Given the description of an element on the screen output the (x, y) to click on. 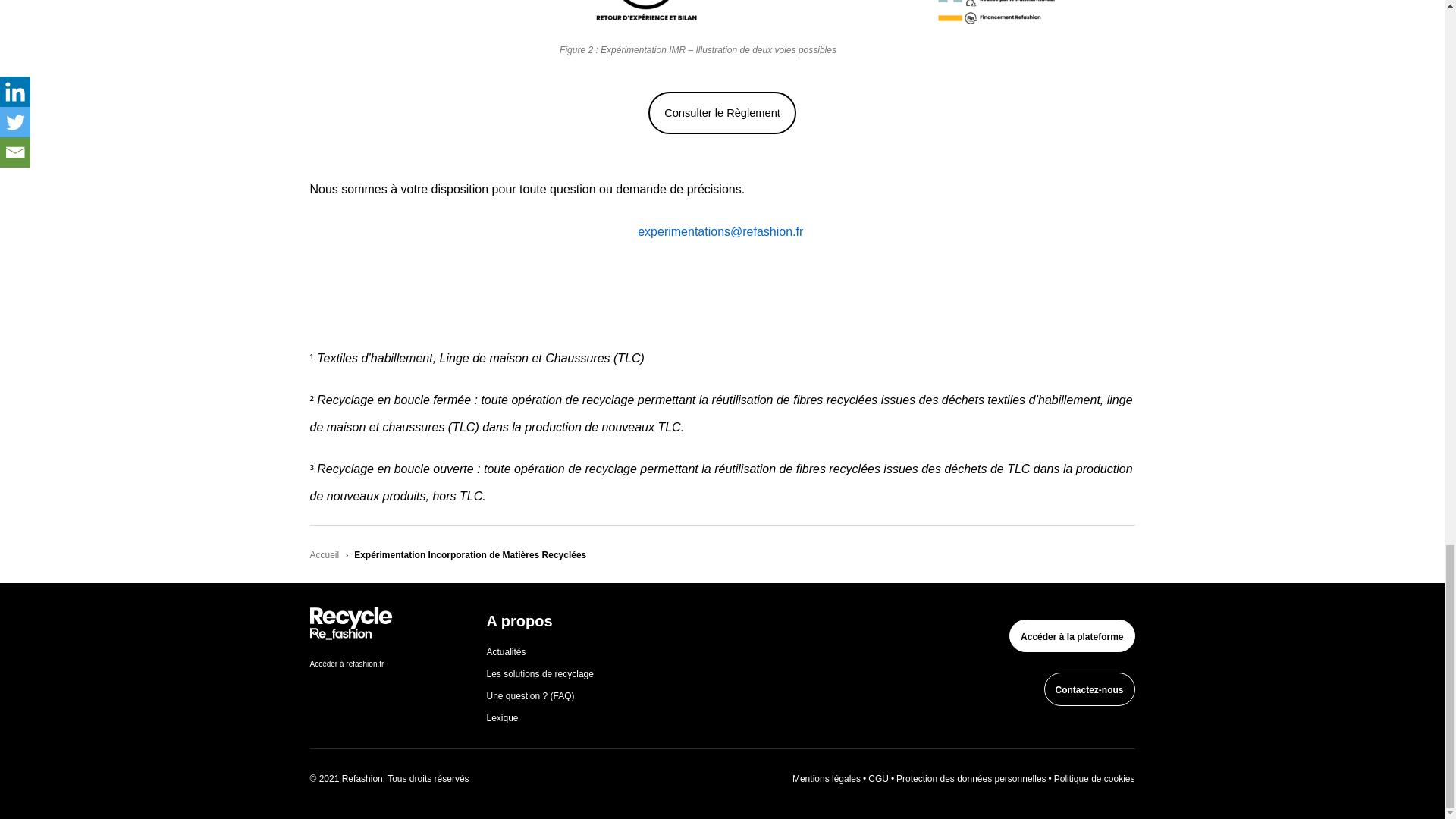
Accueil (323, 553)
Contactez-nous (1088, 688)
Lexique (502, 717)
Politique de cookies (1094, 778)
CGU (877, 778)
Les solutions de recyclage (540, 674)
